Given the description of an element on the screen output the (x, y) to click on. 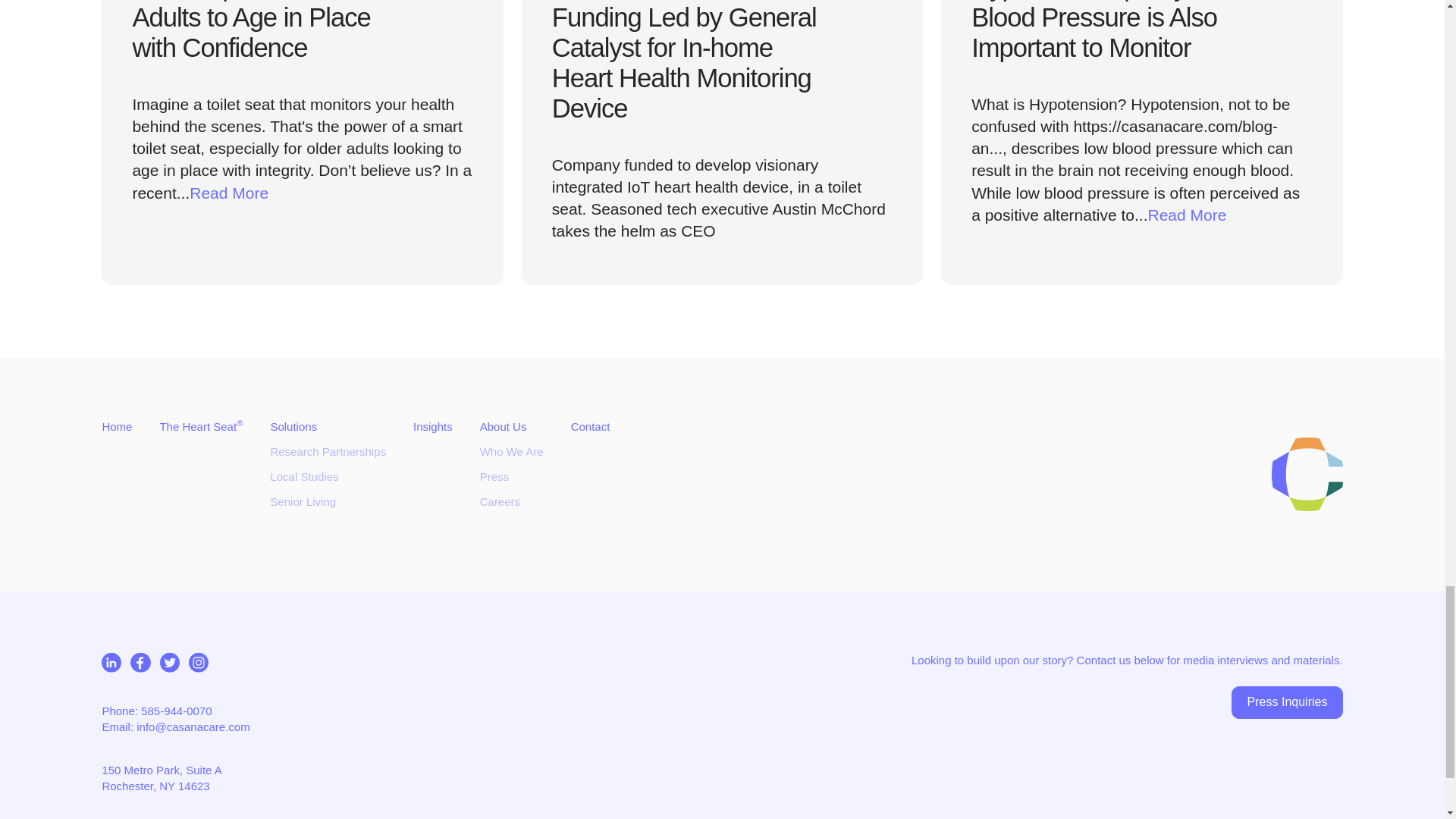
View (722, 142)
Research Partnerships (327, 451)
Solutions (293, 426)
Local Studies (303, 476)
View (301, 142)
View (1141, 142)
Home (116, 426)
